Given the description of an element on the screen output the (x, y) to click on. 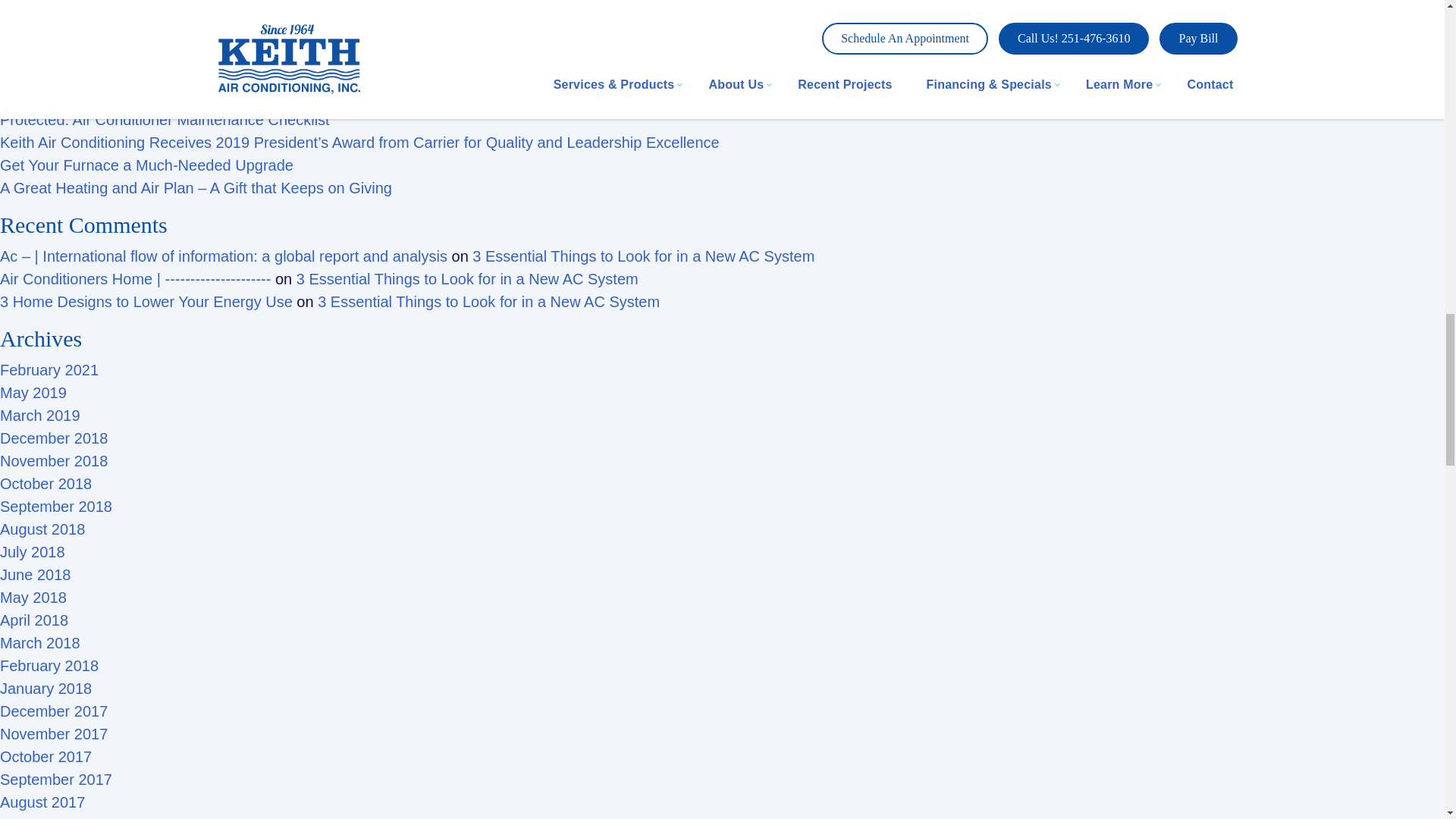
Search (224, 32)
refrigerant levels (399, 8)
inspect (310, 8)
Search (224, 32)
March 25, 2016 (613, 8)
thermostat (499, 8)
